Given the description of an element on the screen output the (x, y) to click on. 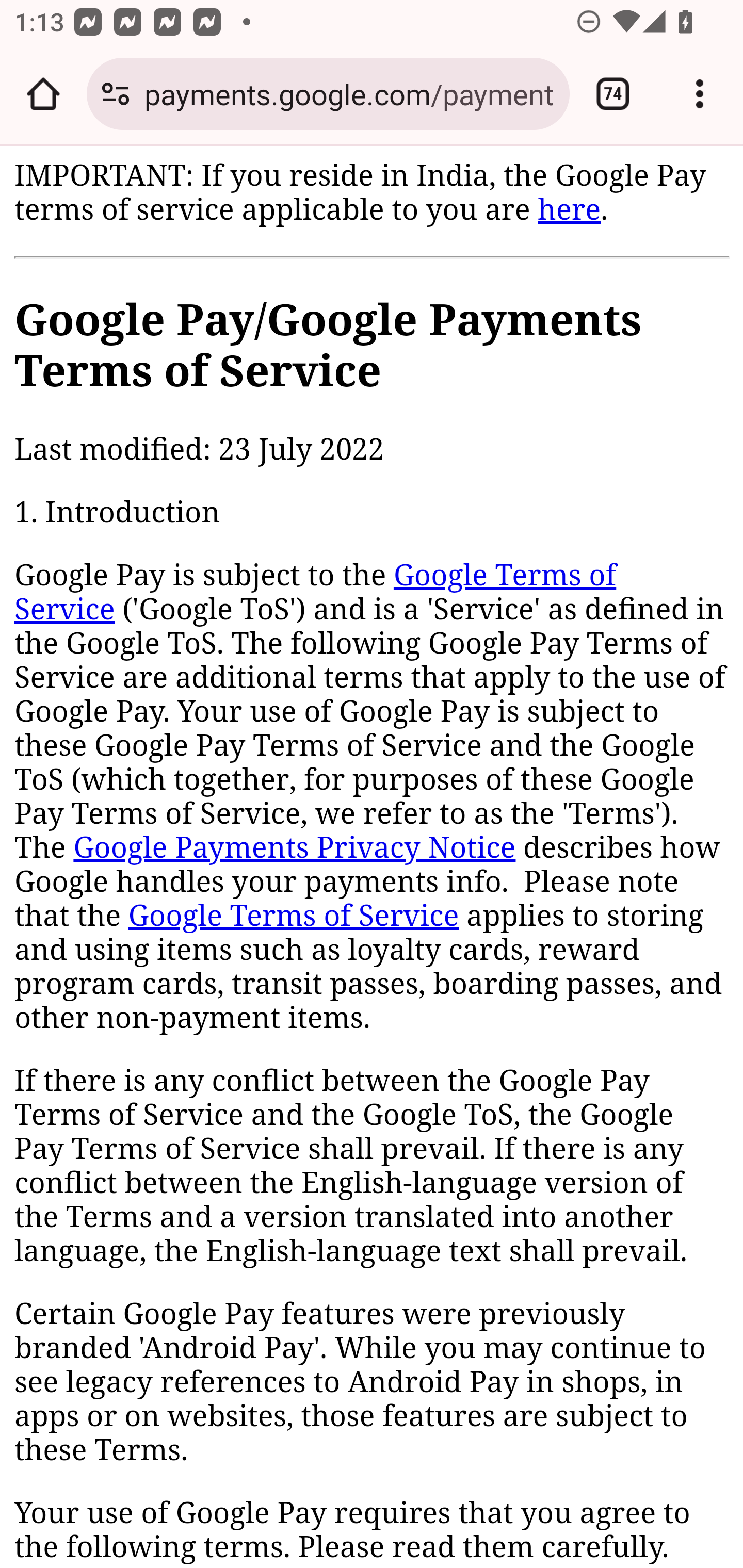
Open the home page (43, 93)
Connection is secure (115, 93)
Switch or close tabs (612, 93)
Customize and control Google Chrome (699, 93)
here (568, 209)
Google Terms of Service (315, 593)
Google Payments Privacy Notice (294, 849)
Google Terms of Service (292, 916)
